Given the description of an element on the screen output the (x, y) to click on. 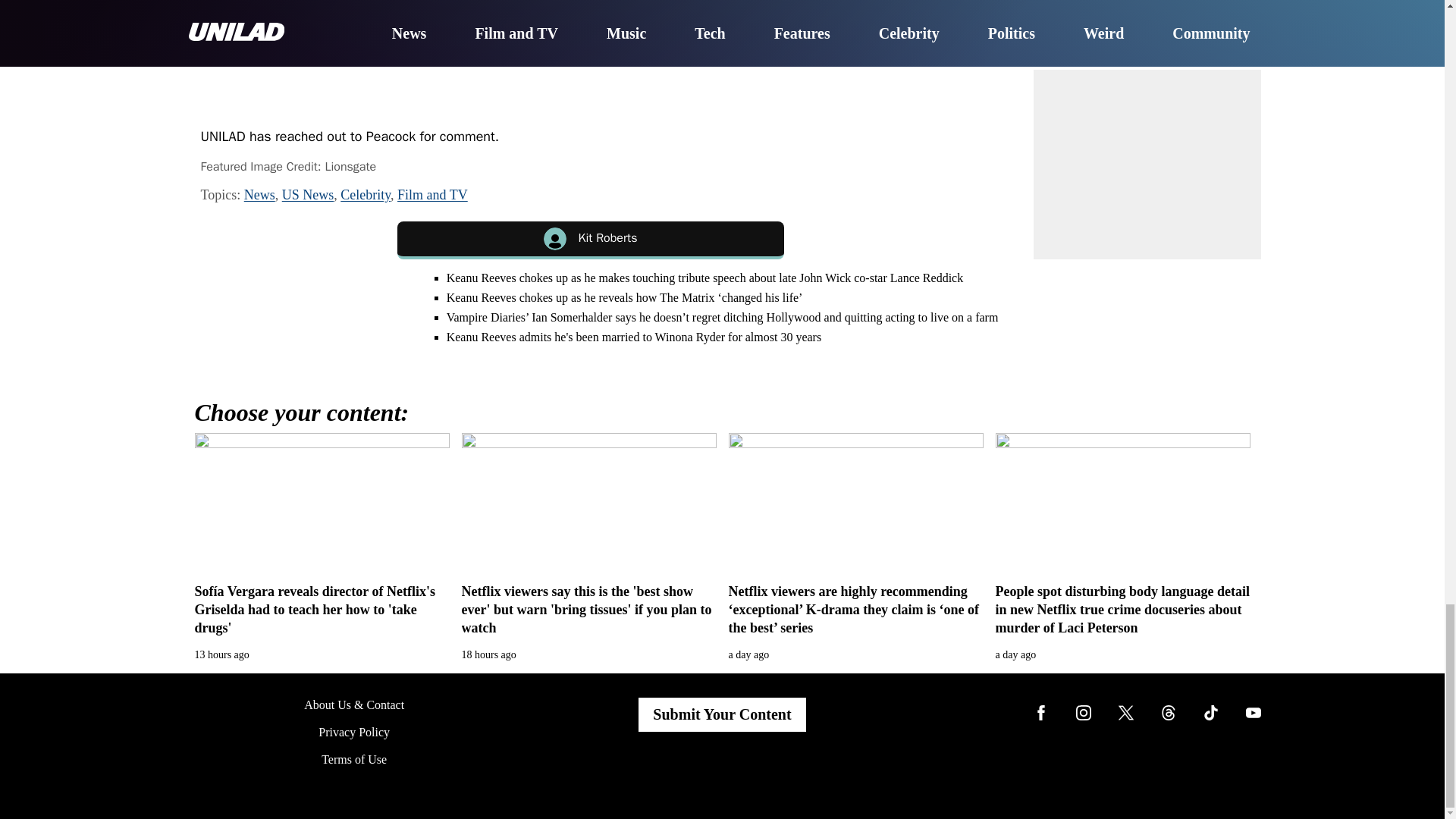
Celebrity (365, 194)
News (259, 194)
US News (308, 194)
Film and TV (432, 194)
